Given the description of an element on the screen output the (x, y) to click on. 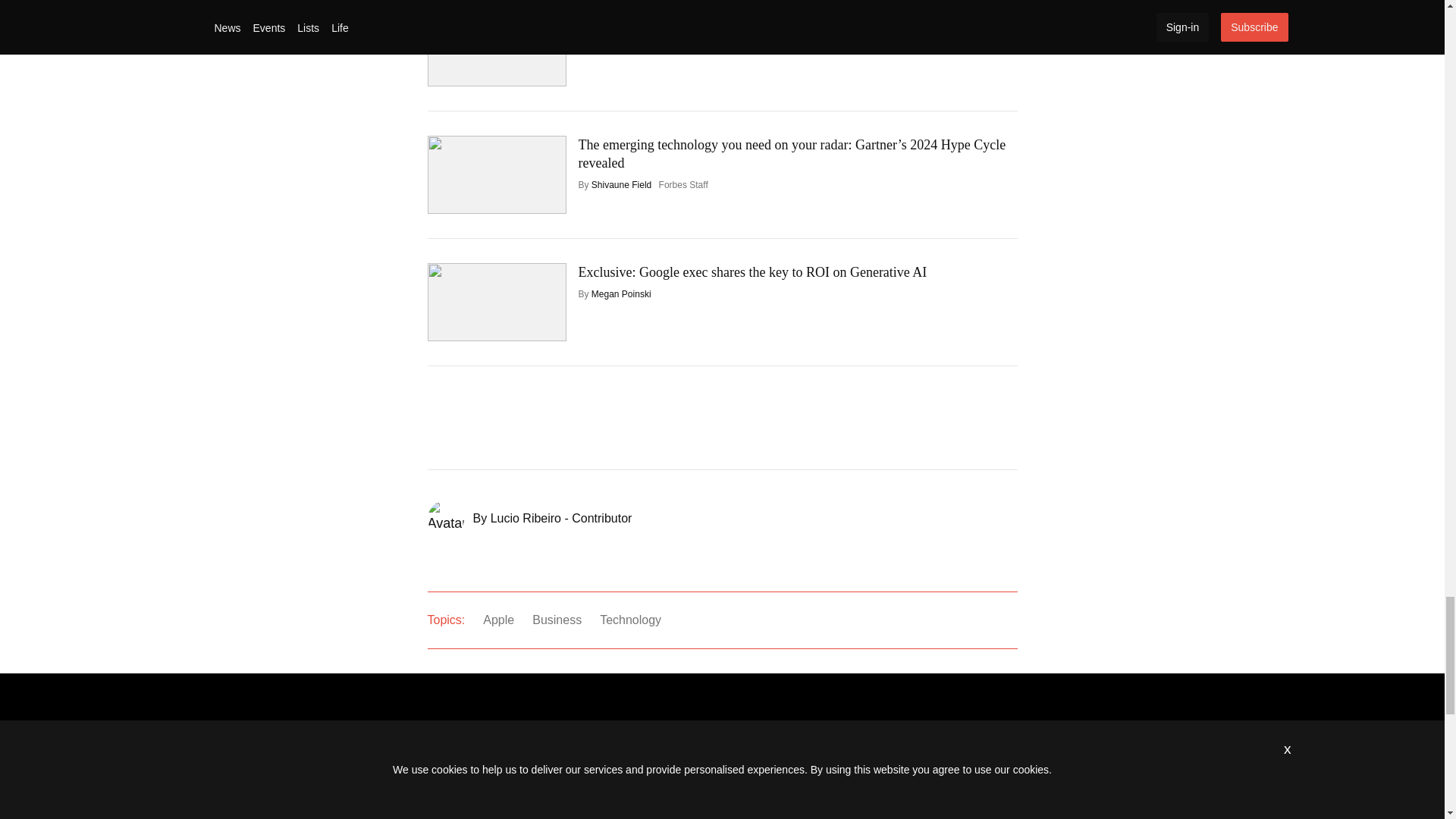
Megan Poinski (620, 294)
Samuel Hussey (623, 39)
Technology (630, 619)
Business (556, 619)
Posts by Megan Poinski (620, 294)
Posts by Shivaune Field (620, 184)
Posts by Samuel Hussey (623, 39)
Posts by Lucio Ribeiro - Contributor (560, 517)
Lucio Ribeiro - Contributor (560, 517)
